Given the description of an element on the screen output the (x, y) to click on. 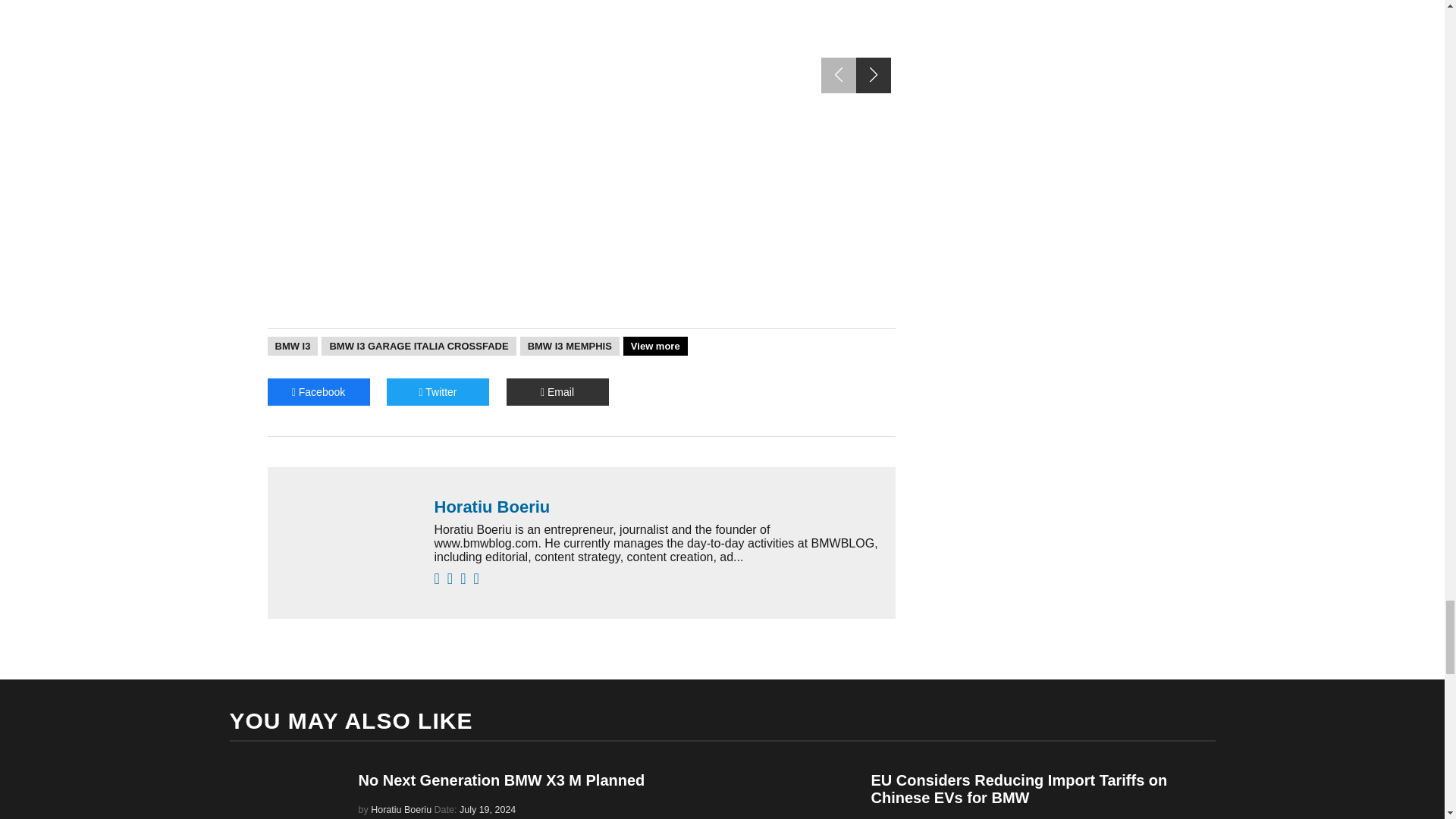
Twitter (438, 391)
Facebook (317, 391)
Horatiu Boeriu (656, 506)
